Given the description of an element on the screen output the (x, y) to click on. 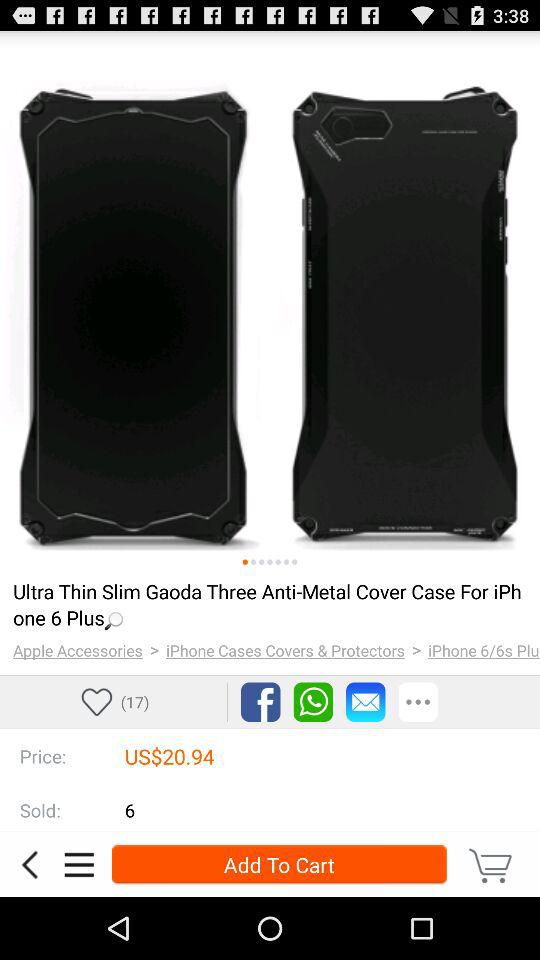
more images (261, 561)
